Given the description of an element on the screen output the (x, y) to click on. 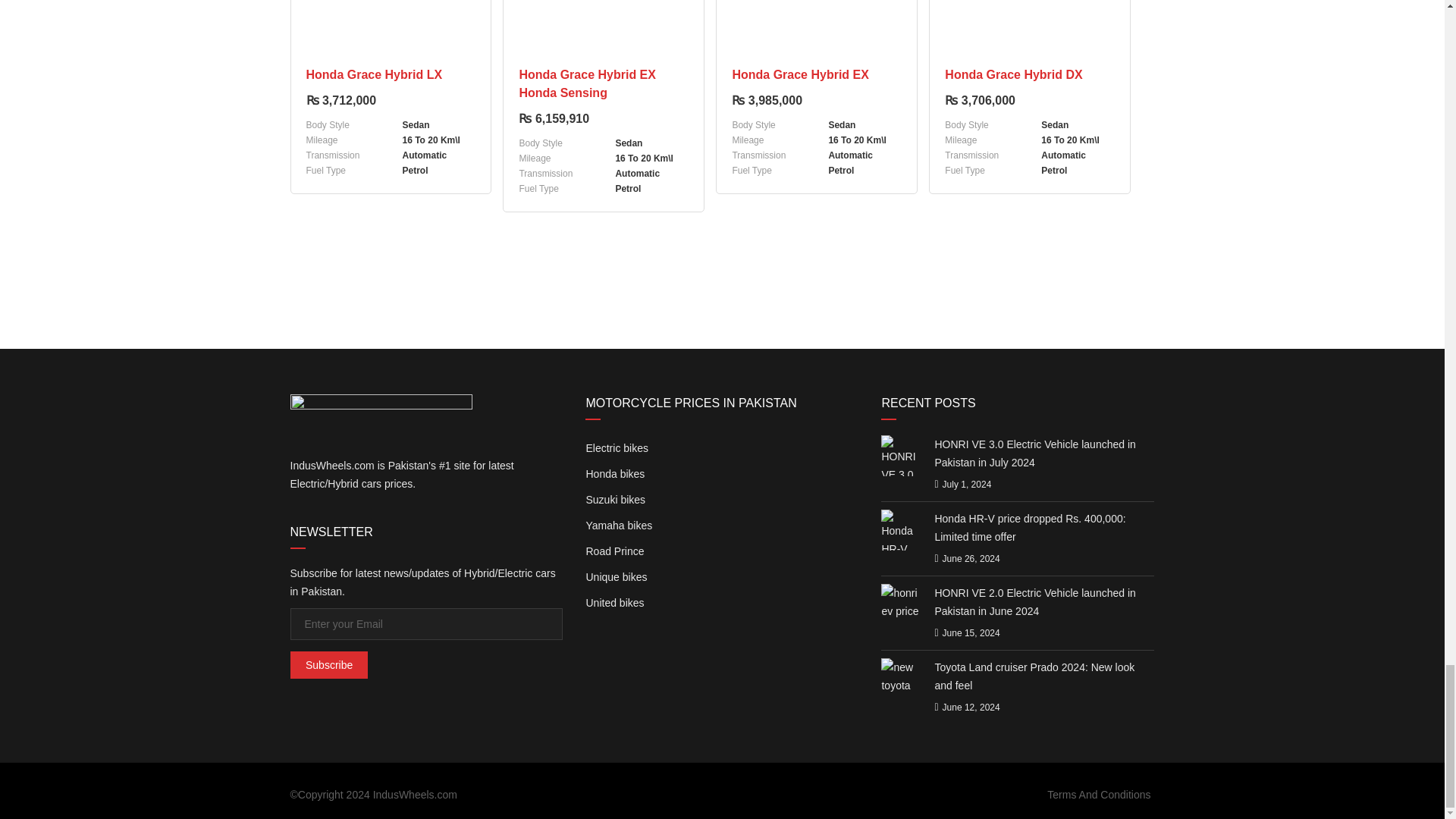
Honda Grace Hybrid LX (390, 75)
